Given the description of an element on the screen output the (x, y) to click on. 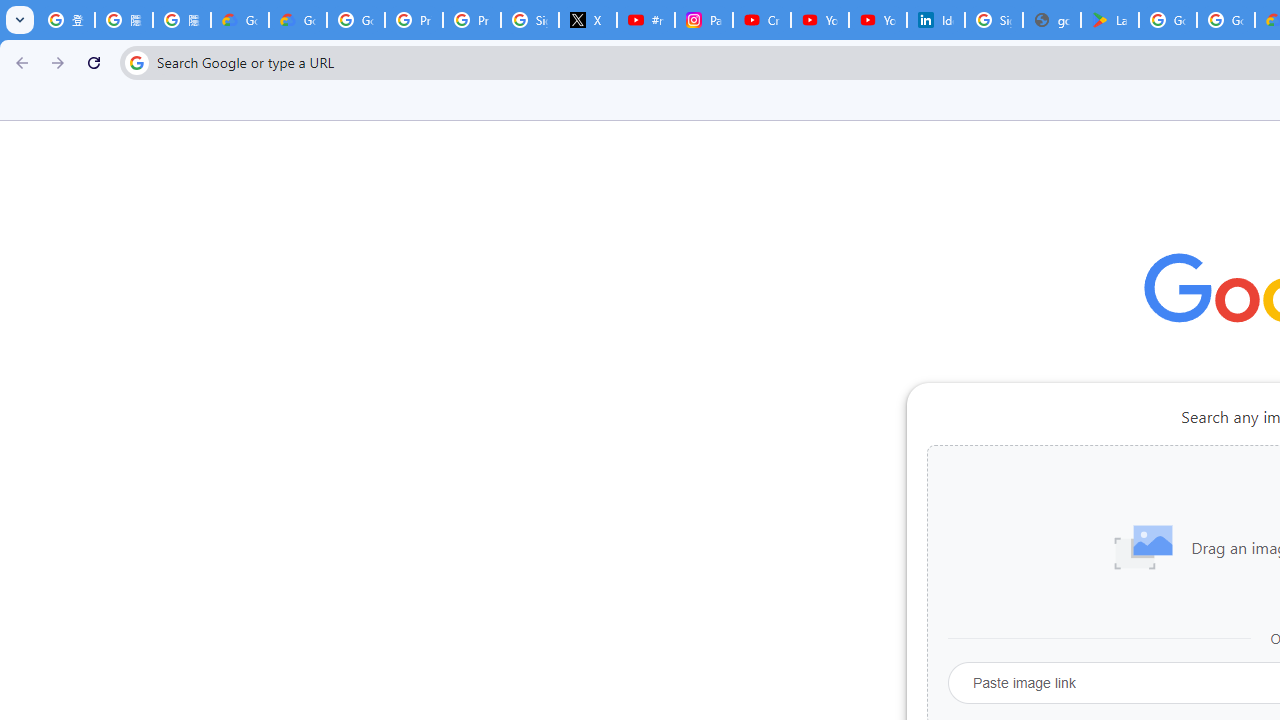
Privacy Help Center - Policies Help (471, 20)
#nbabasketballhighlights - YouTube (645, 20)
Google Cloud Privacy Notice (297, 20)
X (587, 20)
YouTube Culture & Trends - YouTube Top 10, 2021 (877, 20)
